Given the description of an element on the screen output the (x, y) to click on. 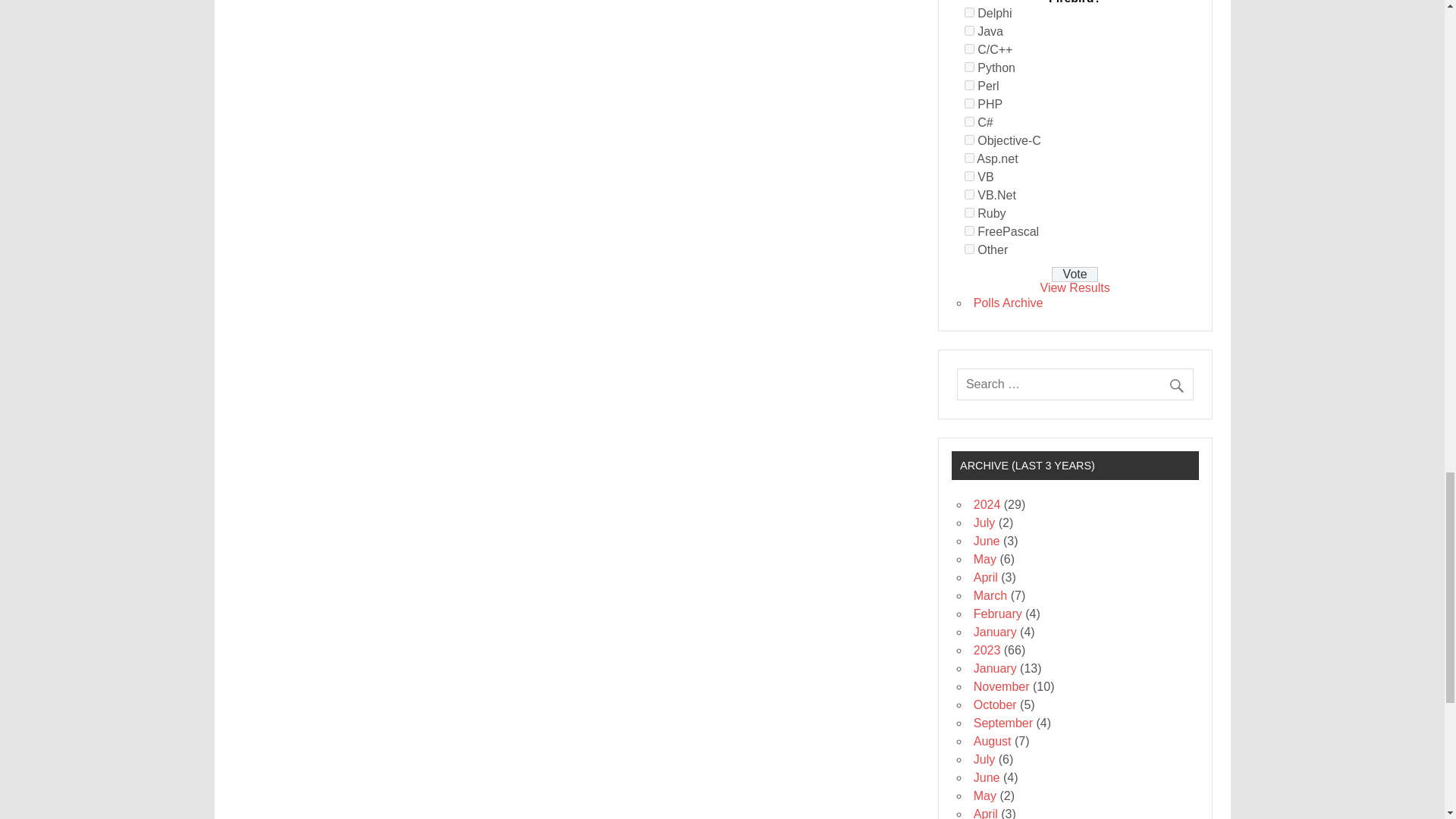
131 (968, 139)
127 (968, 67)
   Vote    (1074, 273)
130 (968, 121)
128 (968, 85)
137 (968, 248)
135 (968, 212)
132 (968, 157)
124 (968, 12)
129 (968, 103)
134 (968, 194)
136 (968, 230)
133 (968, 175)
View Results Of This Poll (1075, 287)
126 (968, 49)
